Given the description of an element on the screen output the (x, y) to click on. 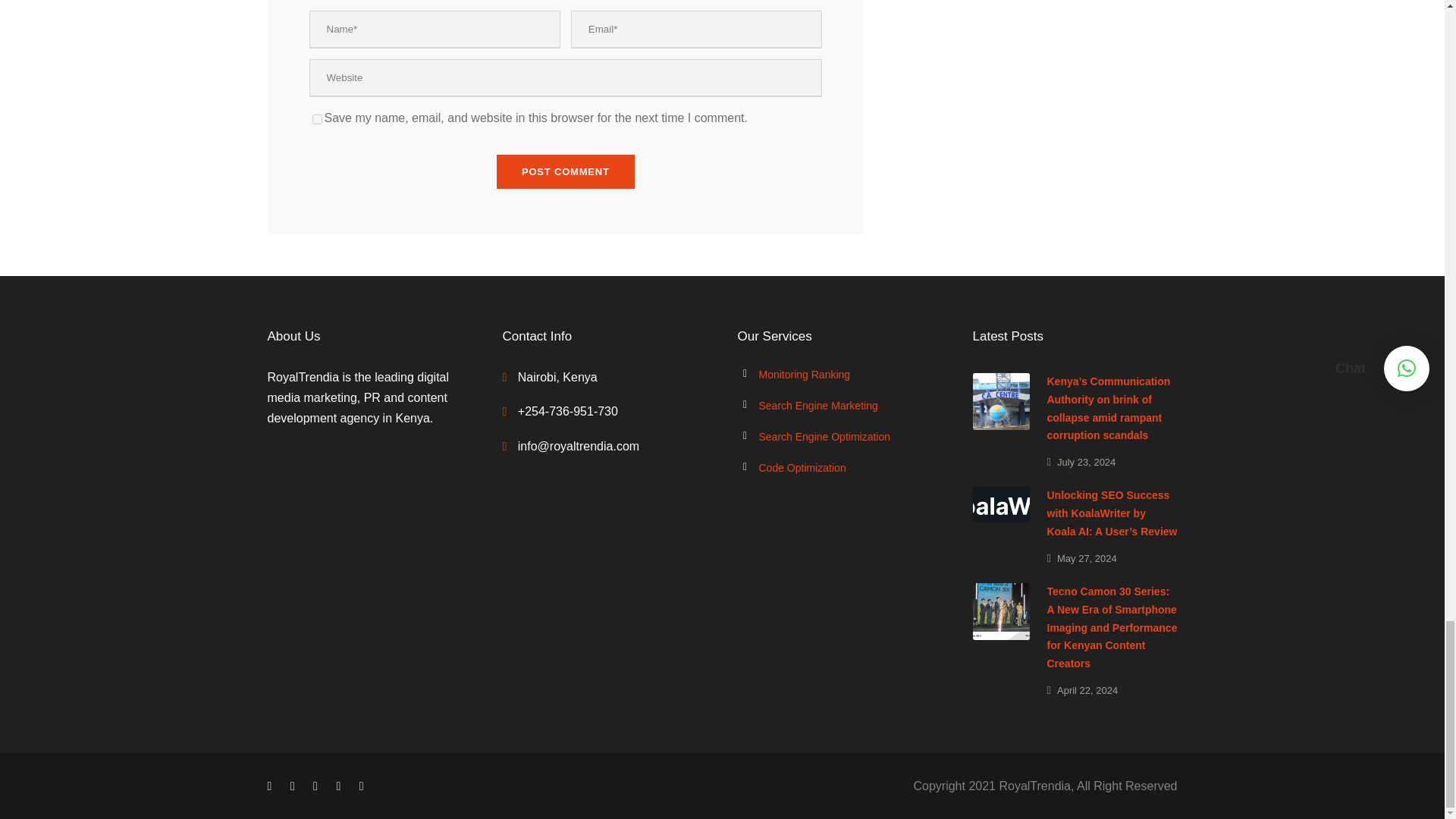
yes (317, 119)
Post Comment (565, 171)
